Given the description of an element on the screen output the (x, y) to click on. 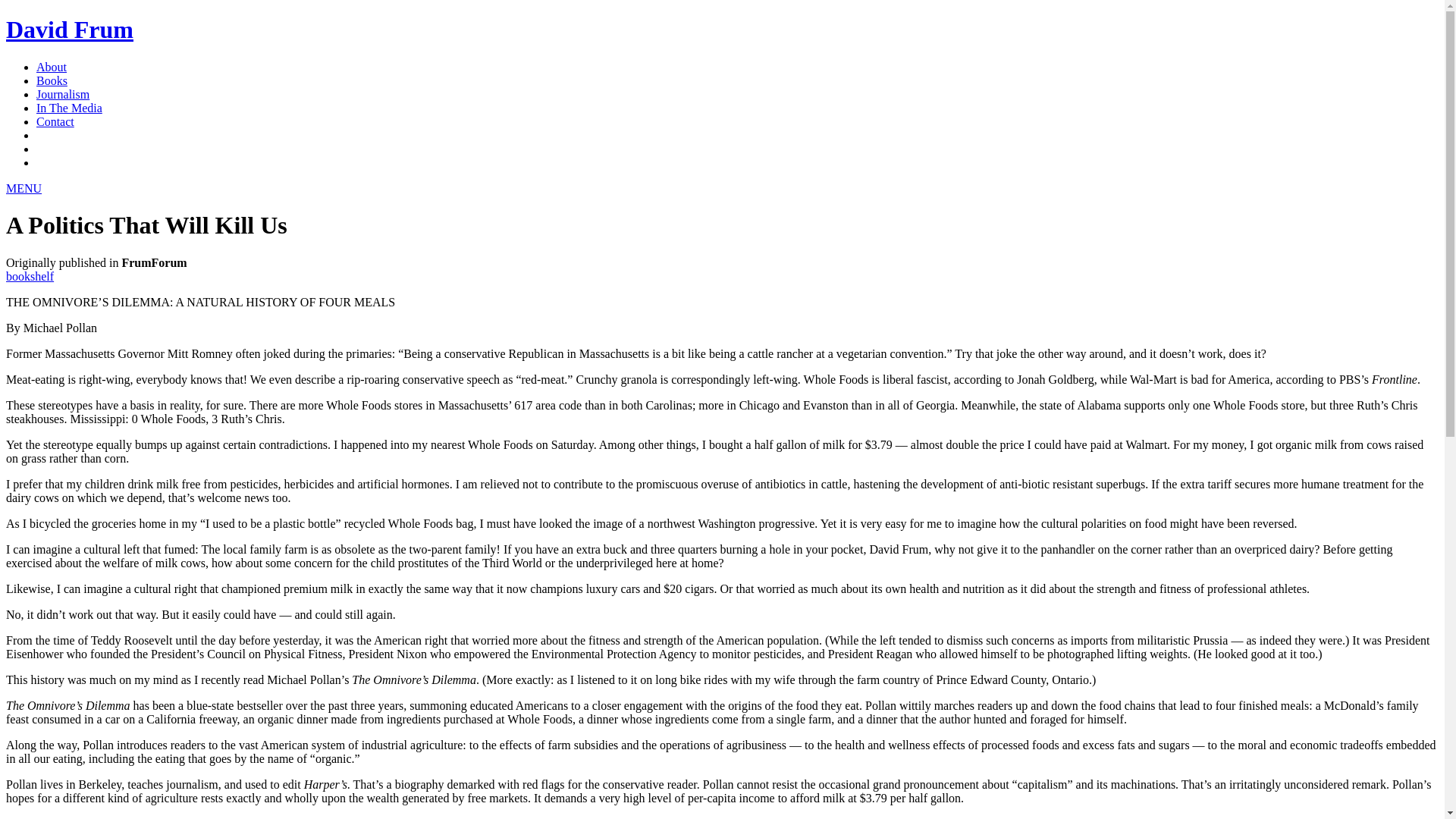
Contact (55, 121)
In The Media (68, 107)
David Frum (69, 29)
bookshelf (29, 276)
Books (51, 80)
About (51, 66)
Journalism (62, 93)
